Given the description of an element on the screen output the (x, y) to click on. 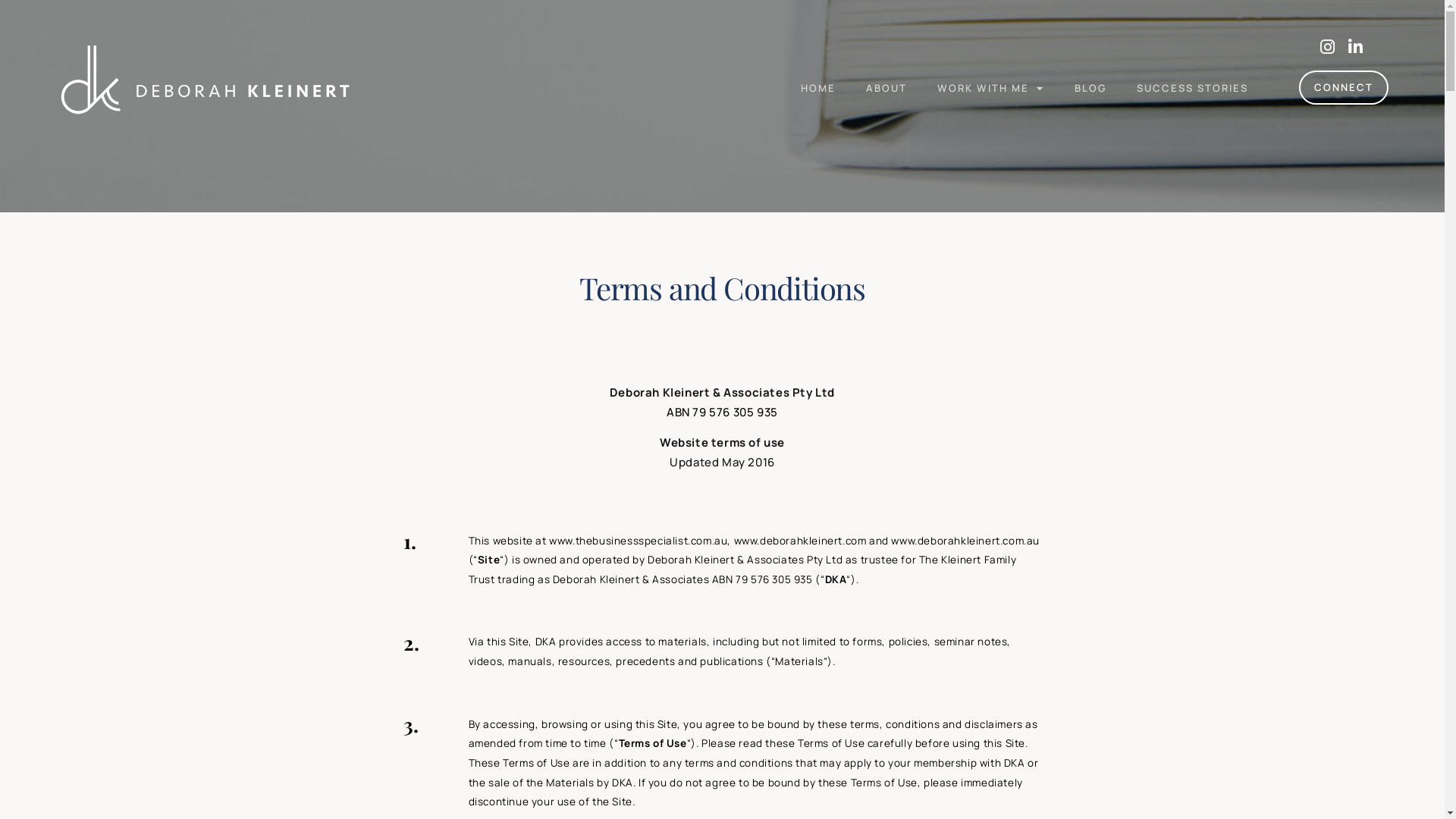
SUCCESS STORIES Element type: text (1192, 88)
HOME Element type: text (817, 88)
BLOG Element type: text (1090, 88)
WORK WITH ME Element type: text (990, 88)
ABOUT Element type: text (886, 88)
CONNECT Element type: text (1343, 87)
